Given the description of an element on the screen output the (x, y) to click on. 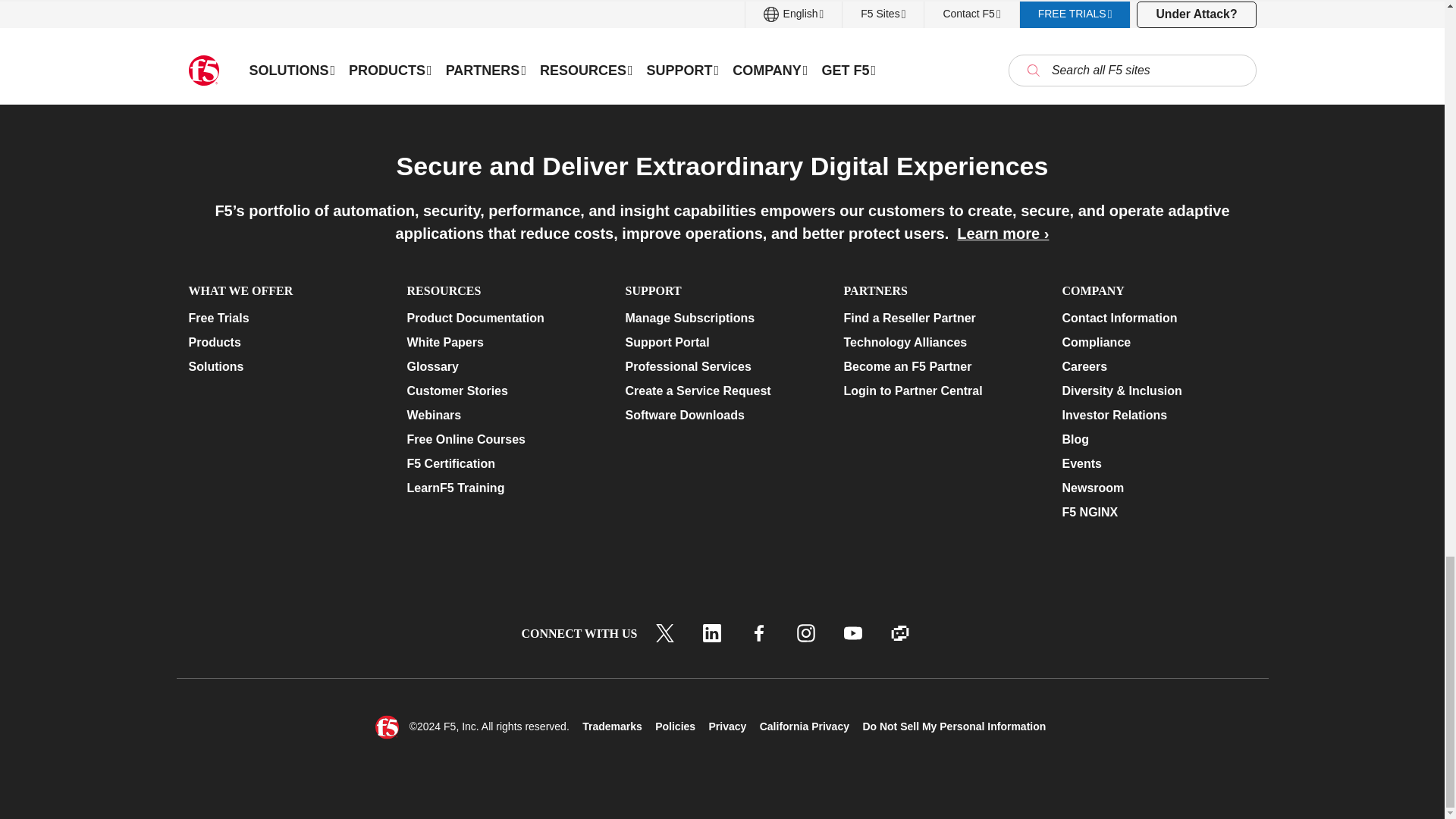
Free Trials (284, 318)
Products (284, 342)
